Given the description of an element on the screen output the (x, y) to click on. 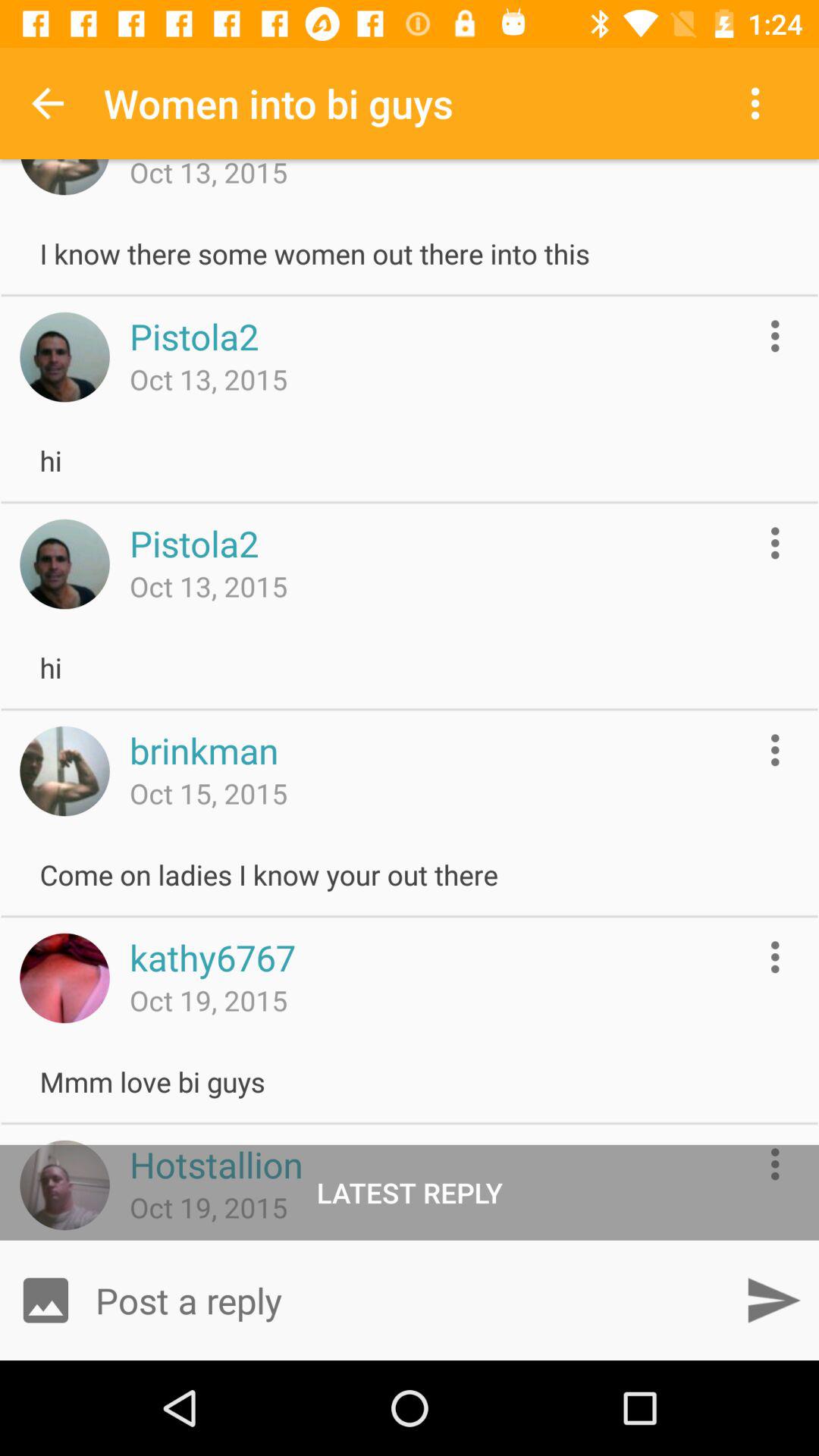
select the brinkman item (203, 750)
